Given the description of an element on the screen output the (x, y) to click on. 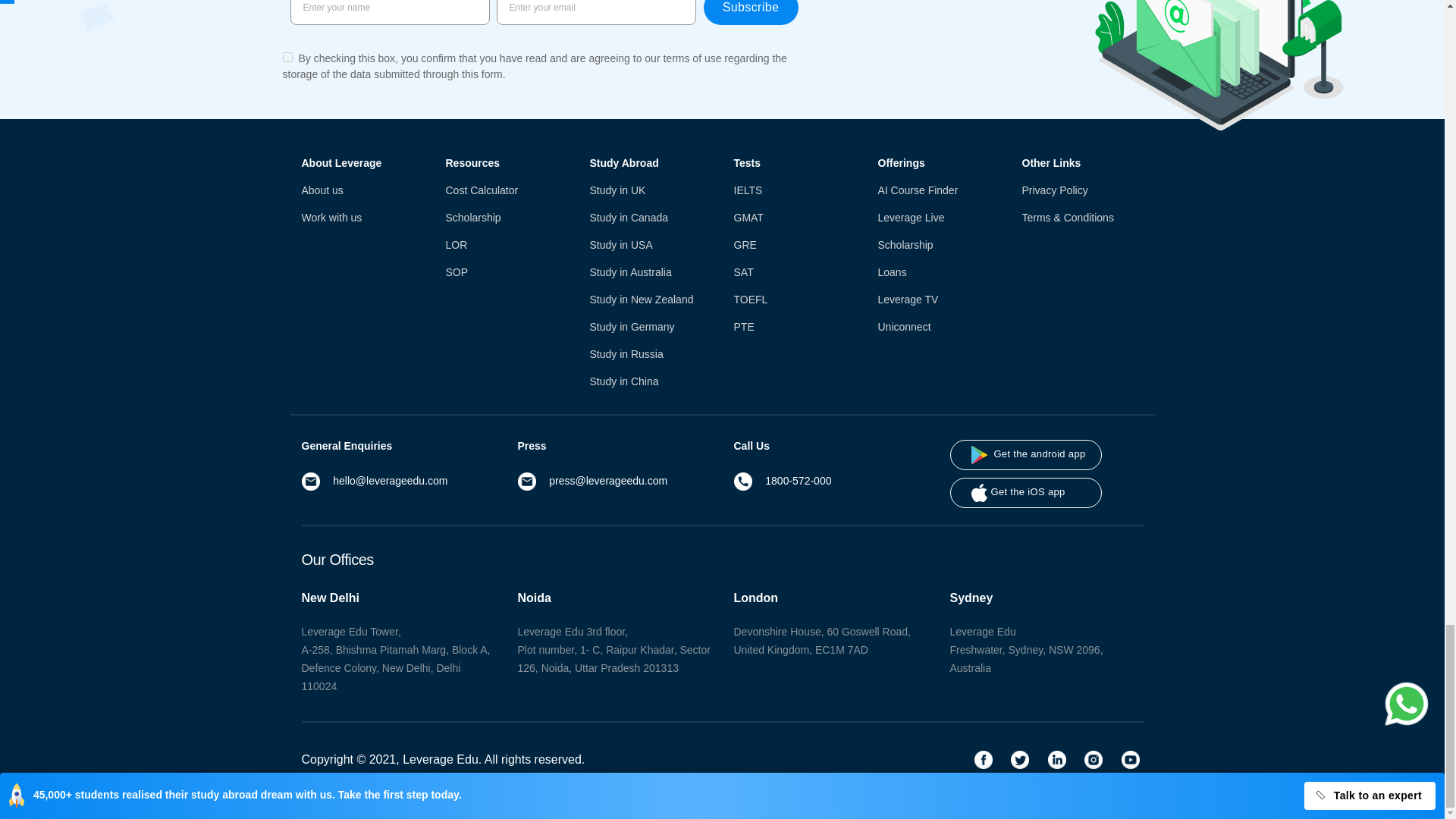
on (287, 57)
